Given the description of an element on the screen output the (x, y) to click on. 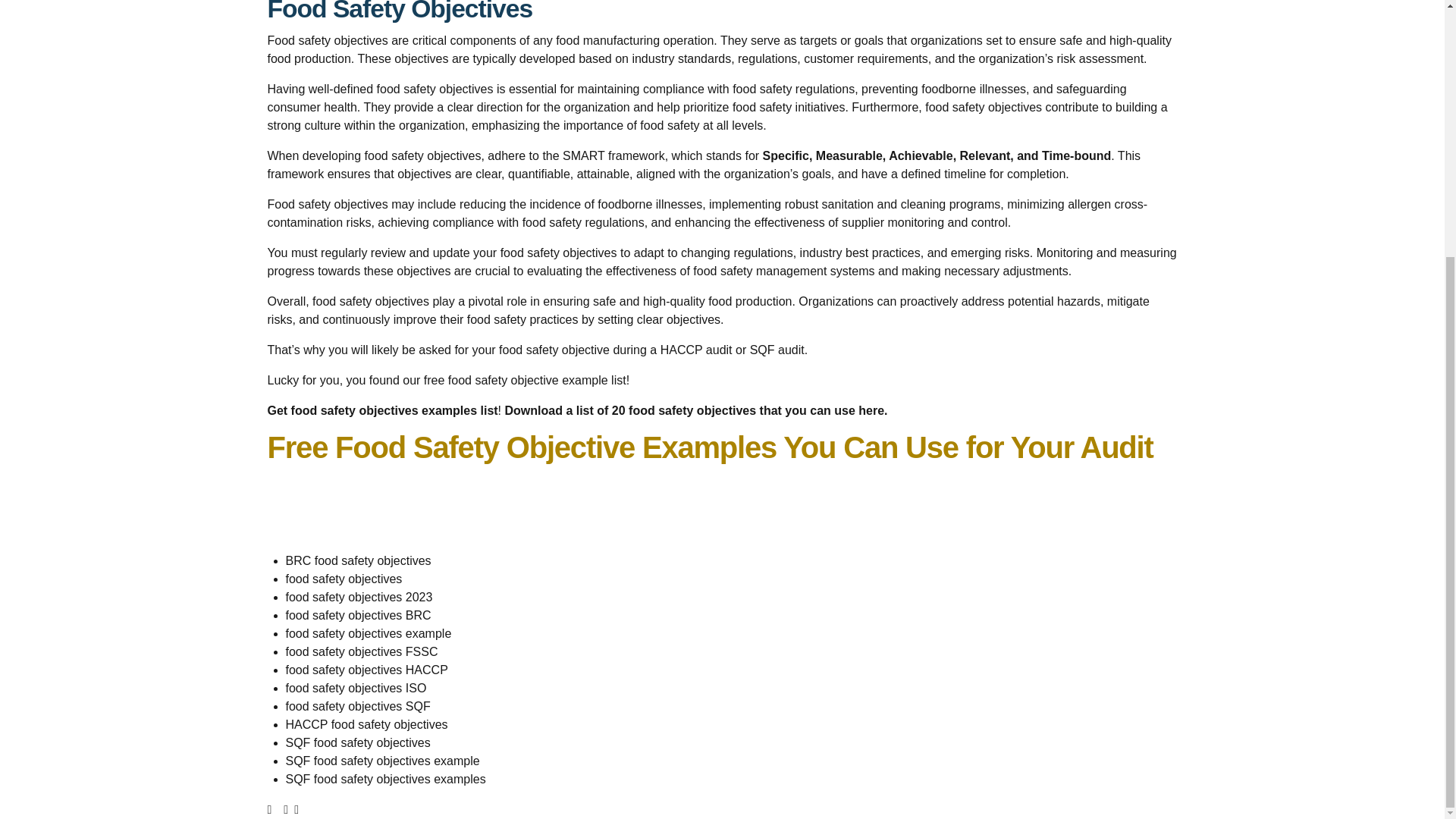
food safety objectives example (368, 633)
SQF food safety objectives (357, 742)
SQF food safety objectives example (382, 760)
food safety objectives (343, 578)
food safety objectives ISO (355, 687)
BRC food safety objectives (357, 560)
food safety objectives BRC (357, 615)
food safety objectives FSSC (361, 651)
food safety objectives 2023 (358, 596)
food safety objectives SQF (357, 706)
